Given the description of an element on the screen output the (x, y) to click on. 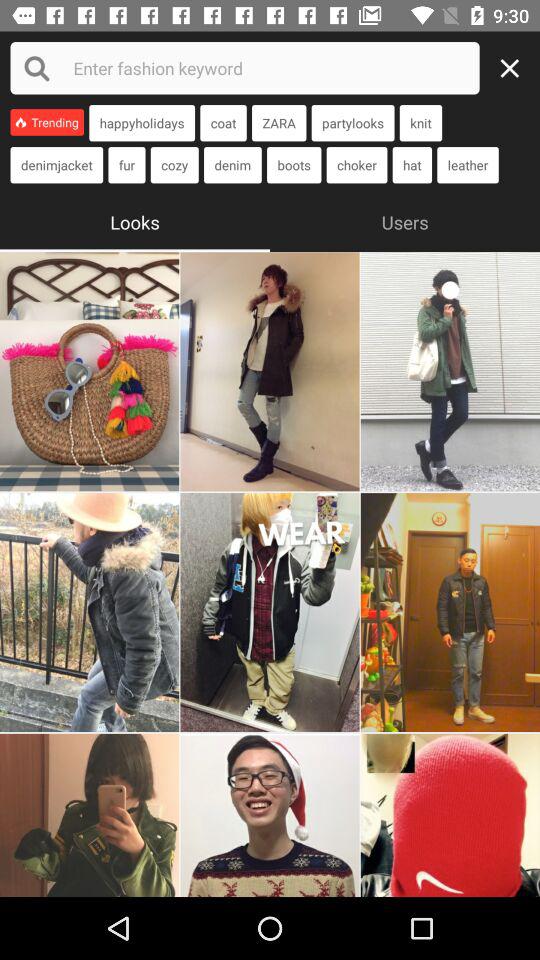
click to visit (89, 612)
